Given the description of an element on the screen output the (x, y) to click on. 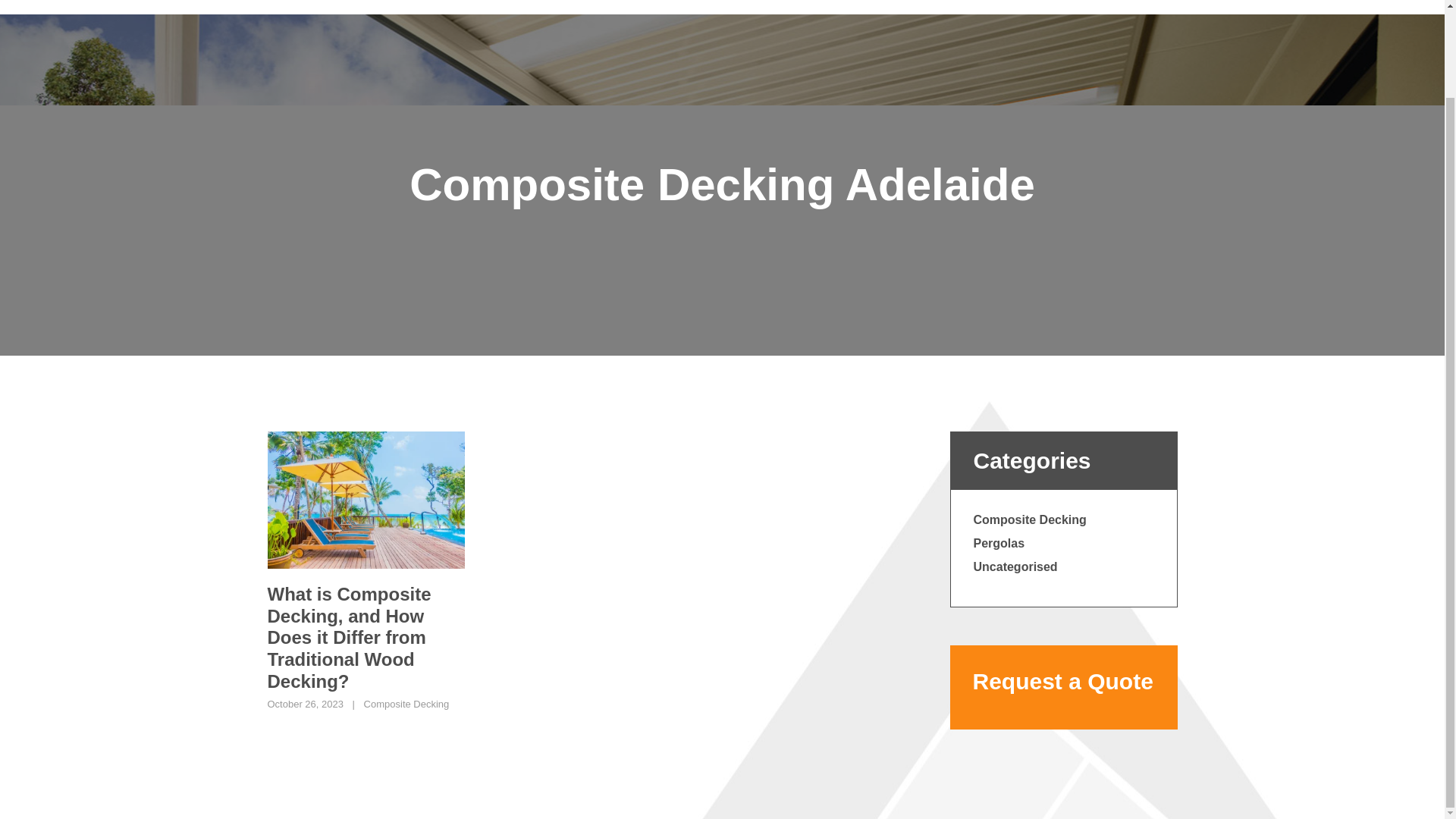
Composite Decking (1030, 519)
Uncategorised (1016, 566)
Pergolas (999, 543)
Composite Decking (406, 704)
